Given the description of an element on the screen output the (x, y) to click on. 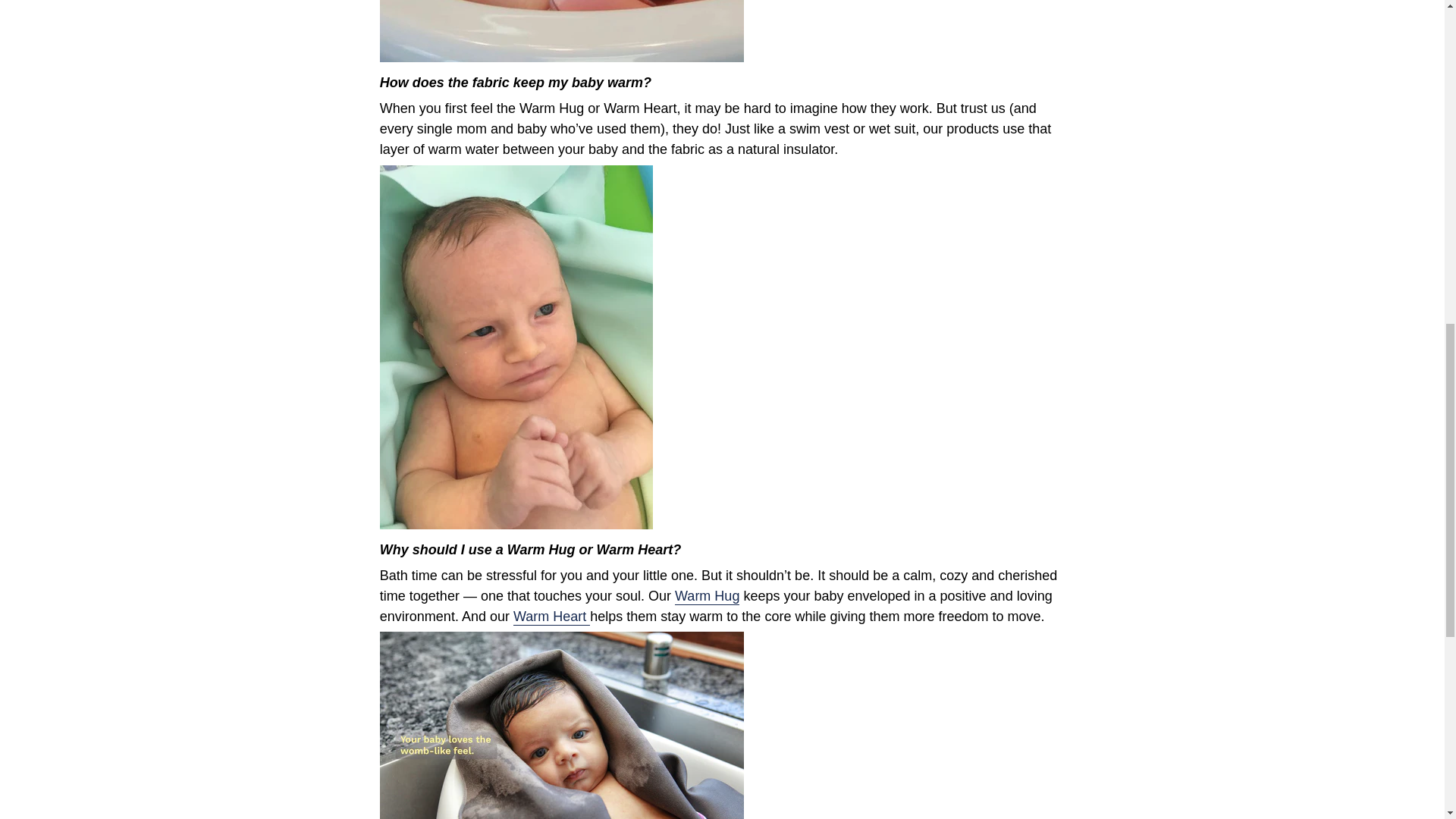
Warm Hug Bath Swaddle (707, 596)
Warm Heart Bath Bib (551, 617)
Warm Heart (551, 617)
Warm Hug (707, 596)
